Given the description of an element on the screen output the (x, y) to click on. 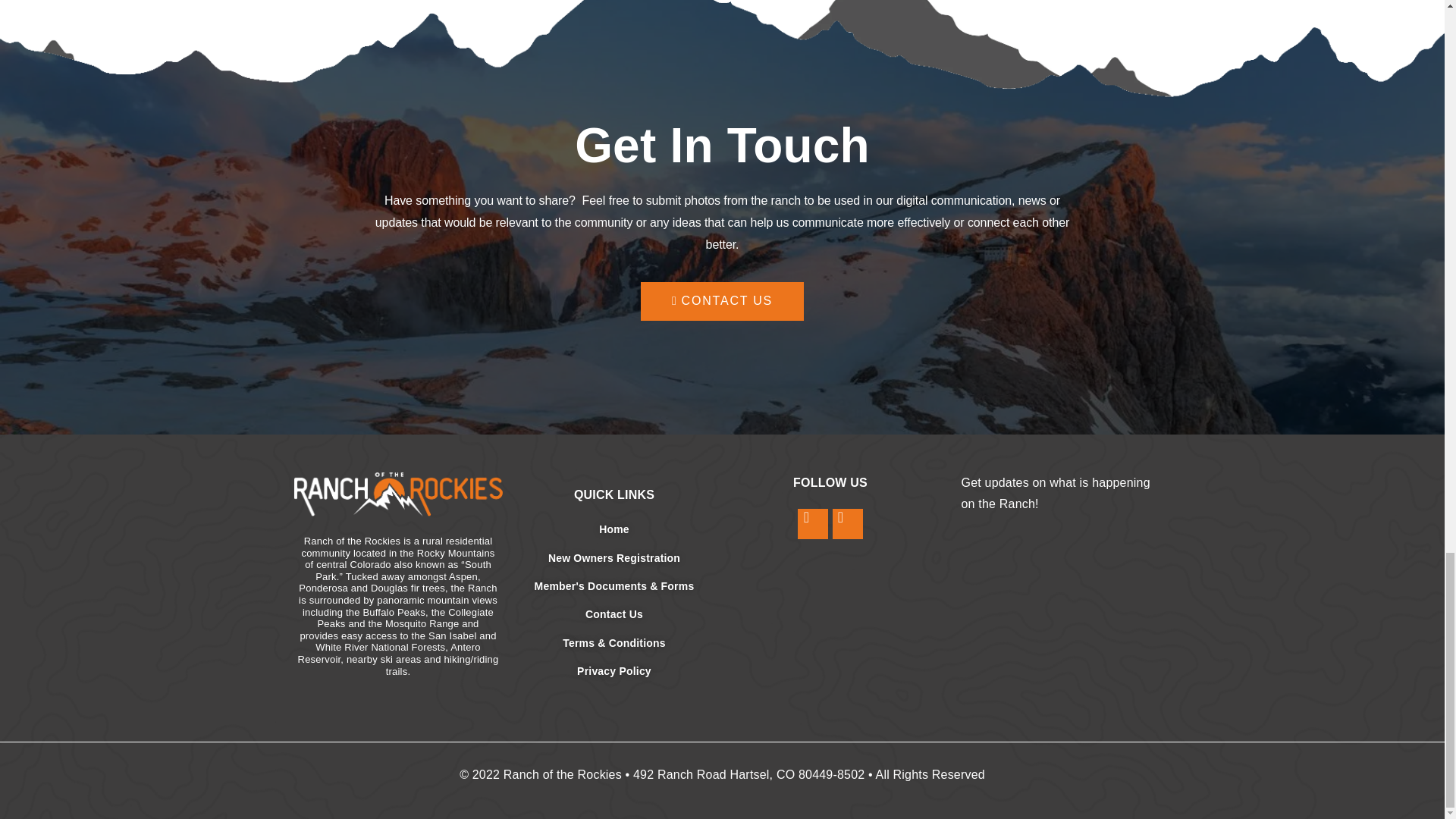
Contact Us (613, 614)
New Owners Registration (613, 557)
CONTACT US (721, 301)
Privacy Policy (613, 670)
Home (613, 528)
